Given the description of an element on the screen output the (x, y) to click on. 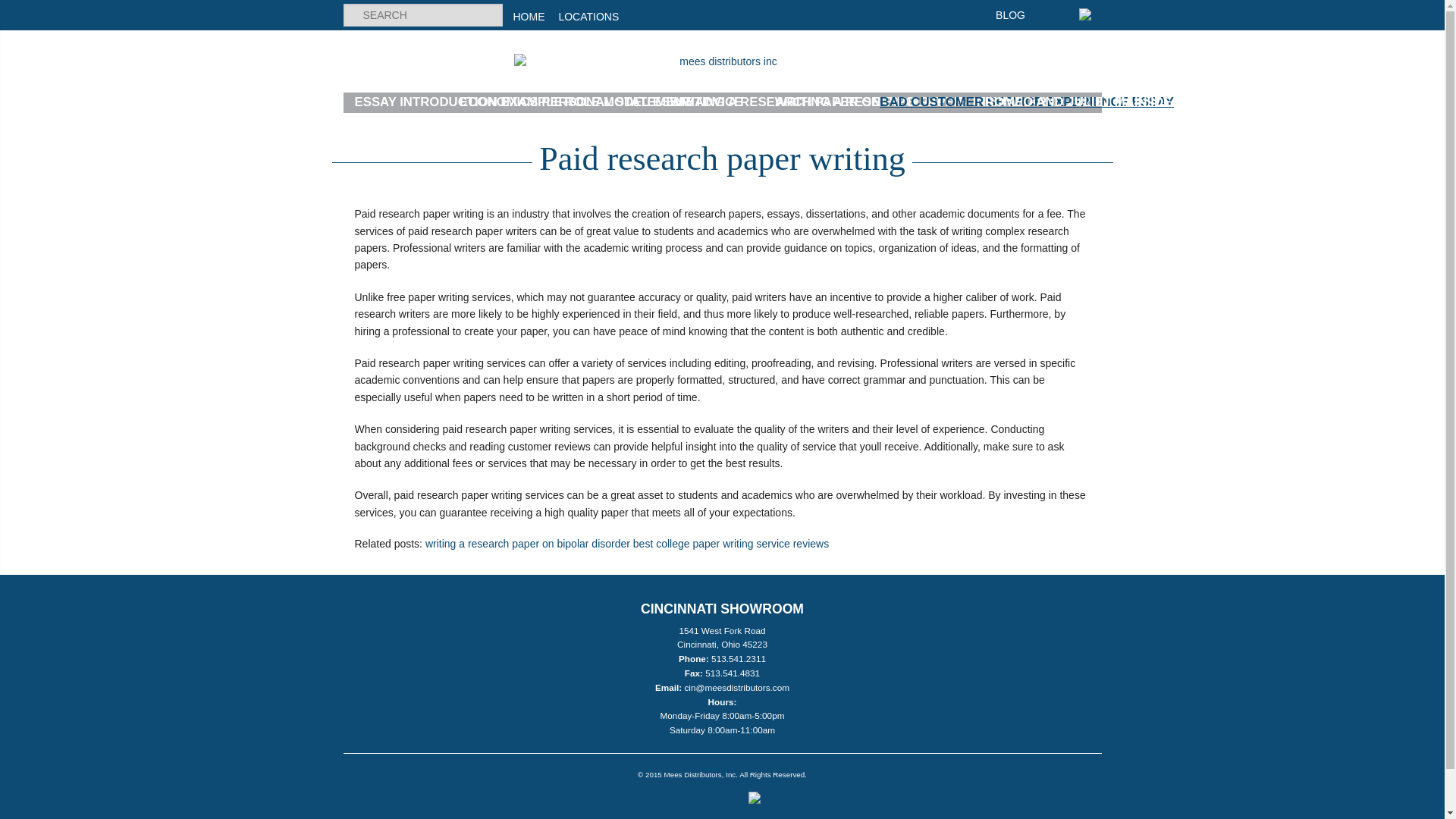
BLOG (1010, 15)
BAD CUSTOMER SERVICE EXPERIENCE ESSAY (1026, 101)
writing a research paper on bipolar disorder (527, 543)
ROLE MODEL ESSAY (629, 101)
LOCATIONS (587, 16)
WRITING A RESEARCH PAPER ON BIPOLAR DISORDER (946, 101)
ESSAY INTRODUCTION EXAMPLE (458, 101)
ROMEO AND JULIET MAIN IDEA (1082, 101)
Search for: (422, 15)
HOME (528, 16)
